Given the description of an element on the screen output the (x, y) to click on. 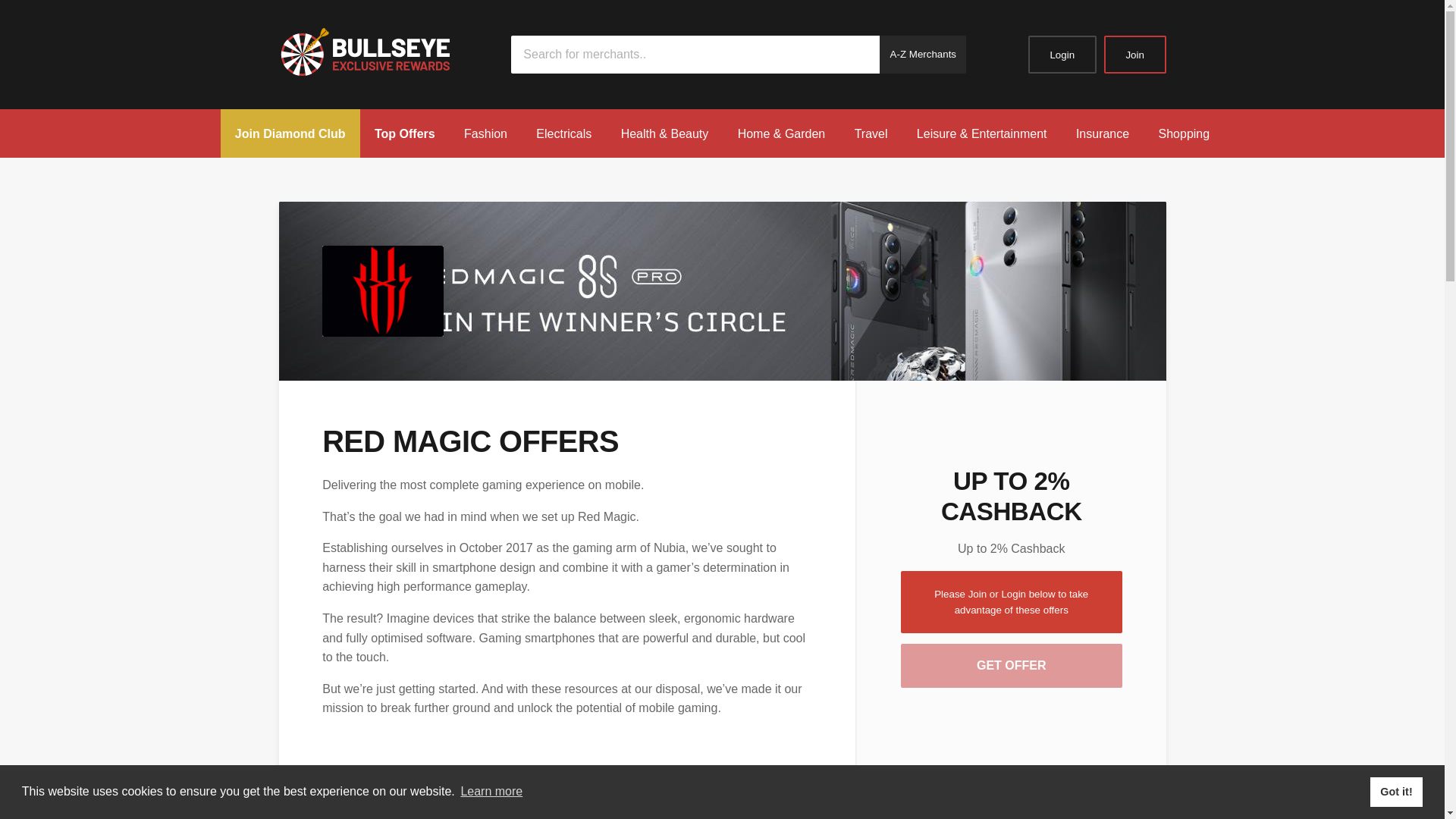
Login (1061, 54)
Insurance (1102, 133)
Shopping (1183, 133)
Join Diamond Club (290, 133)
GET OFFER (1011, 665)
Learn more (491, 791)
Electricals (563, 133)
Login (1061, 54)
Fashion (485, 133)
Got it! (1396, 791)
